Given the description of an element on the screen output the (x, y) to click on. 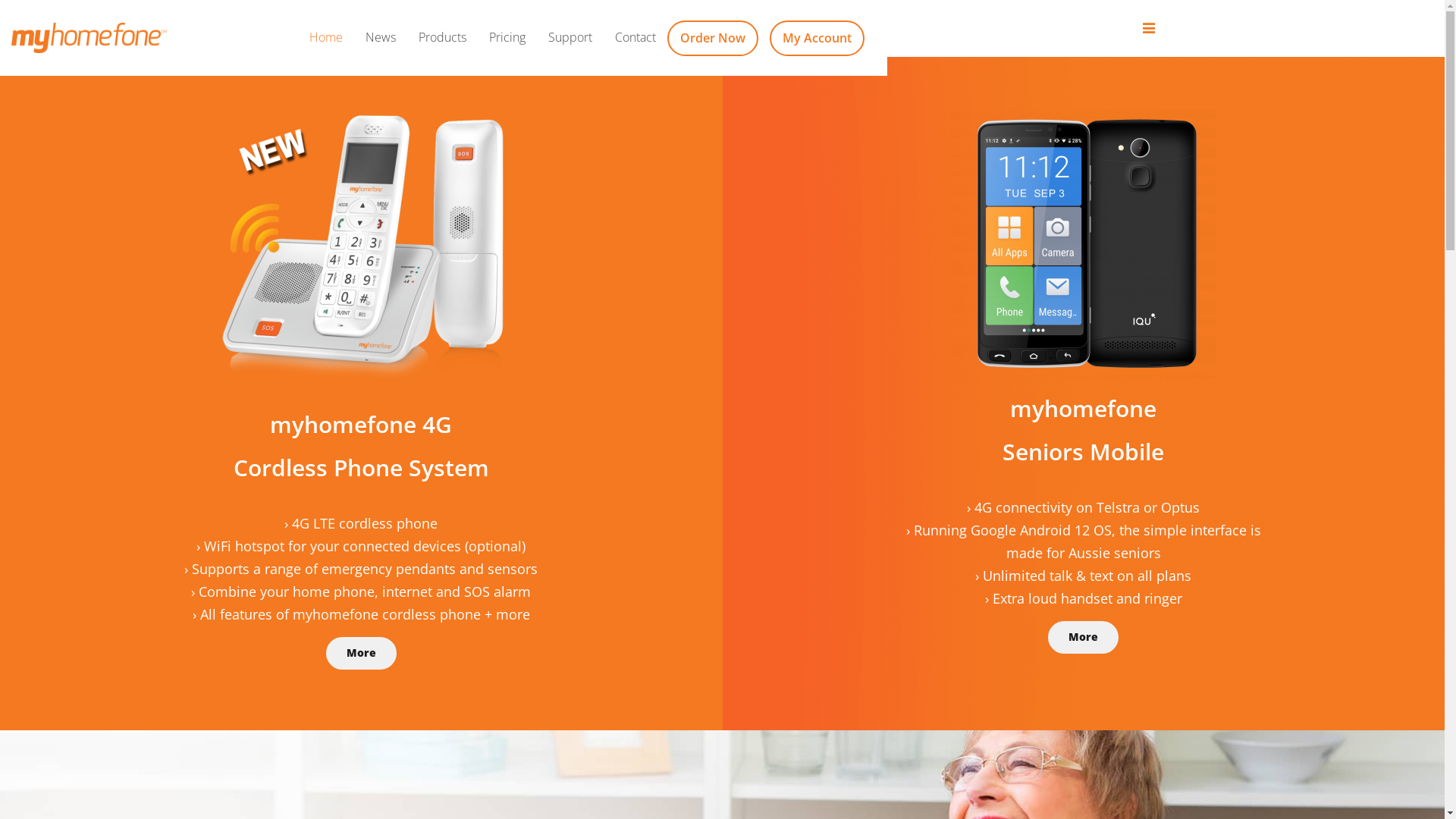
SMARTEasy-Q50-Front-Back-1-350x355 Home Element type: hover (1083, 244)
Support Element type: text (570, 37)
Contact Element type: text (635, 37)
Home Element type: text (325, 37)
dt7x-wifi-symbolNEW-400x376 Home Element type: hover (360, 252)
MyHomeFone Element type: hover (89, 37)
Pricing Element type: text (507, 37)
More Element type: text (1083, 637)
Products Element type: text (442, 37)
More Element type: text (361, 653)
News Element type: text (380, 37)
Order Now Element type: text (712, 38)
My Account Element type: text (816, 38)
